Given the description of an element on the screen output the (x, y) to click on. 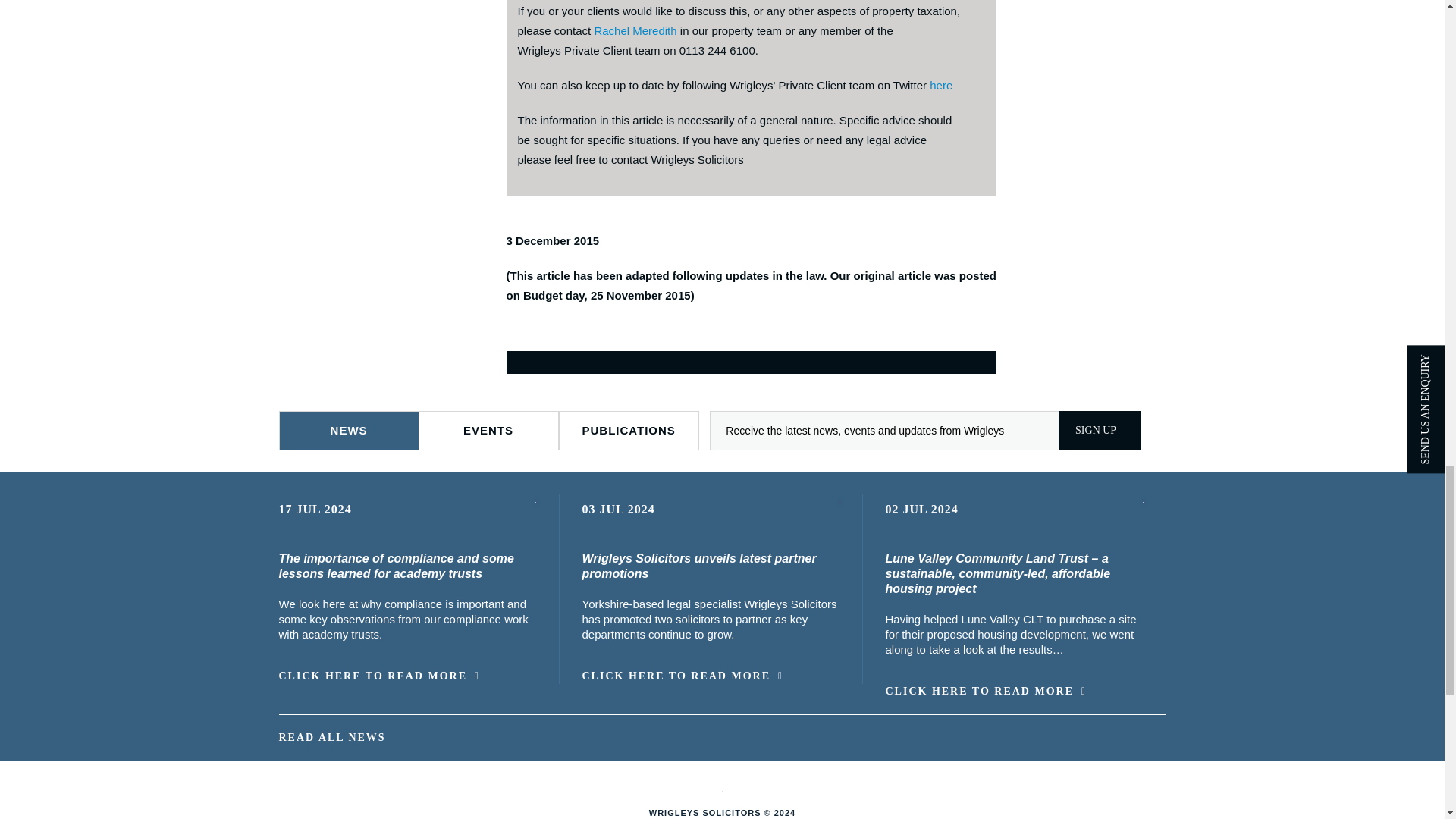
on (518, 357)
